Given the description of an element on the screen output the (x, y) to click on. 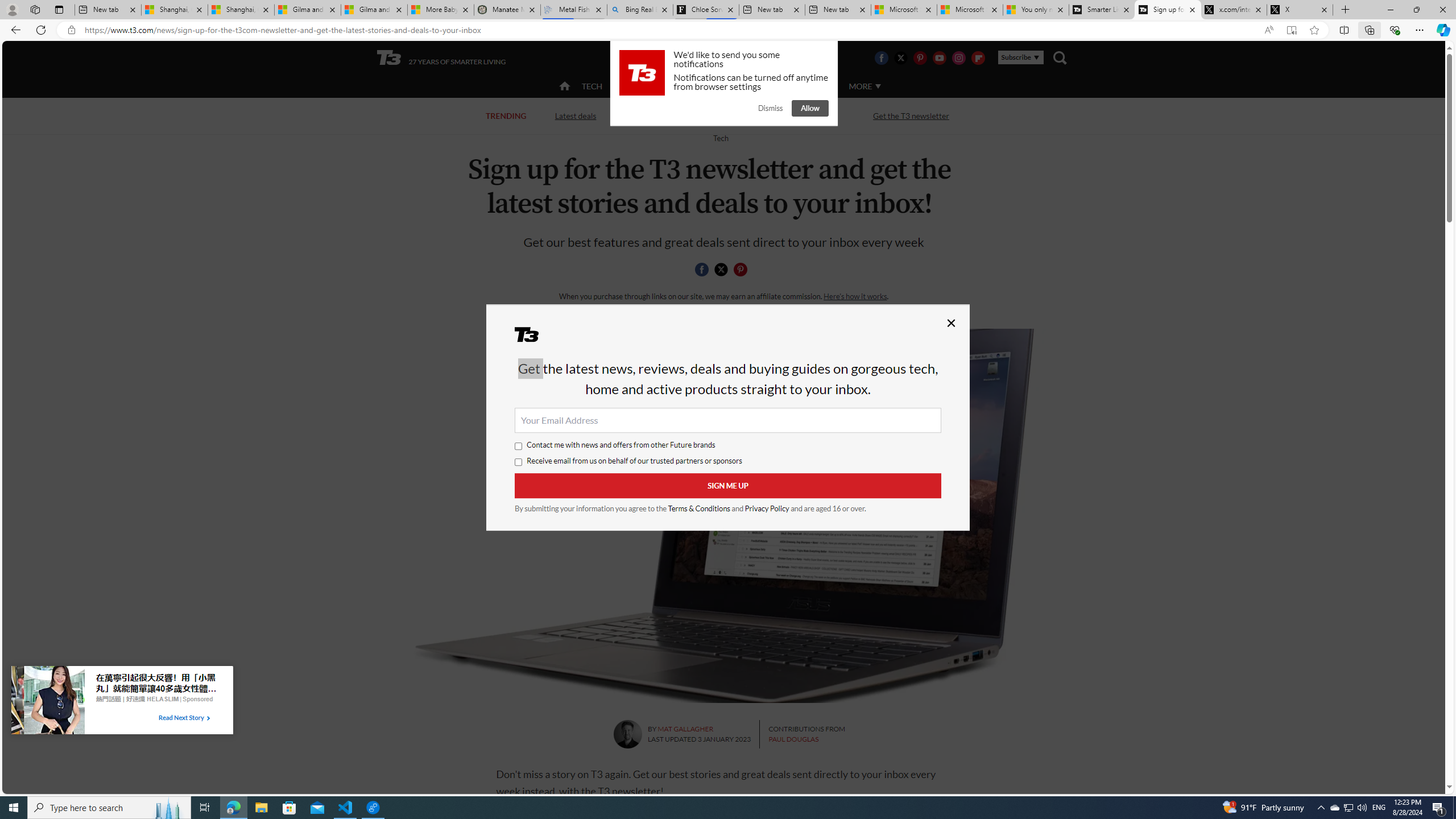
Sponsored (197, 698)
Your Email Address (727, 420)
Manatee Mortality Statistics | FWC (507, 9)
Back to Class 2024 (669, 115)
TECH (591, 85)
Class: navigation__search (1059, 57)
Visit us on Pintrest (919, 57)
Latest deals (574, 115)
Visit us on Youtube (938, 57)
Bing Real Estate - Home sales and rental listings (640, 9)
UK Edition (736, 57)
Tech (720, 137)
